Given the description of an element on the screen output the (x, y) to click on. 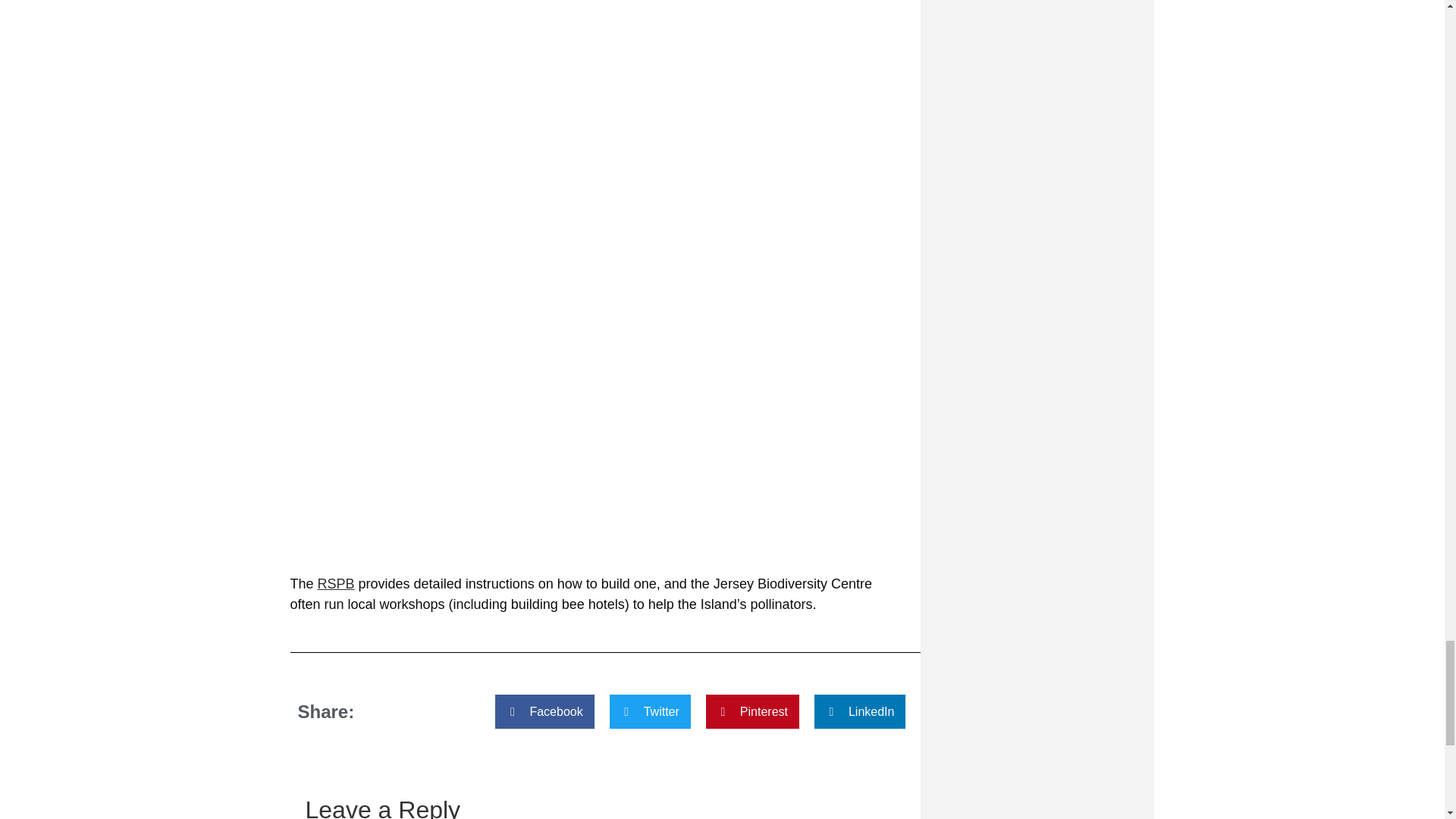
RSPB (336, 583)
